Given the description of an element on the screen output the (x, y) to click on. 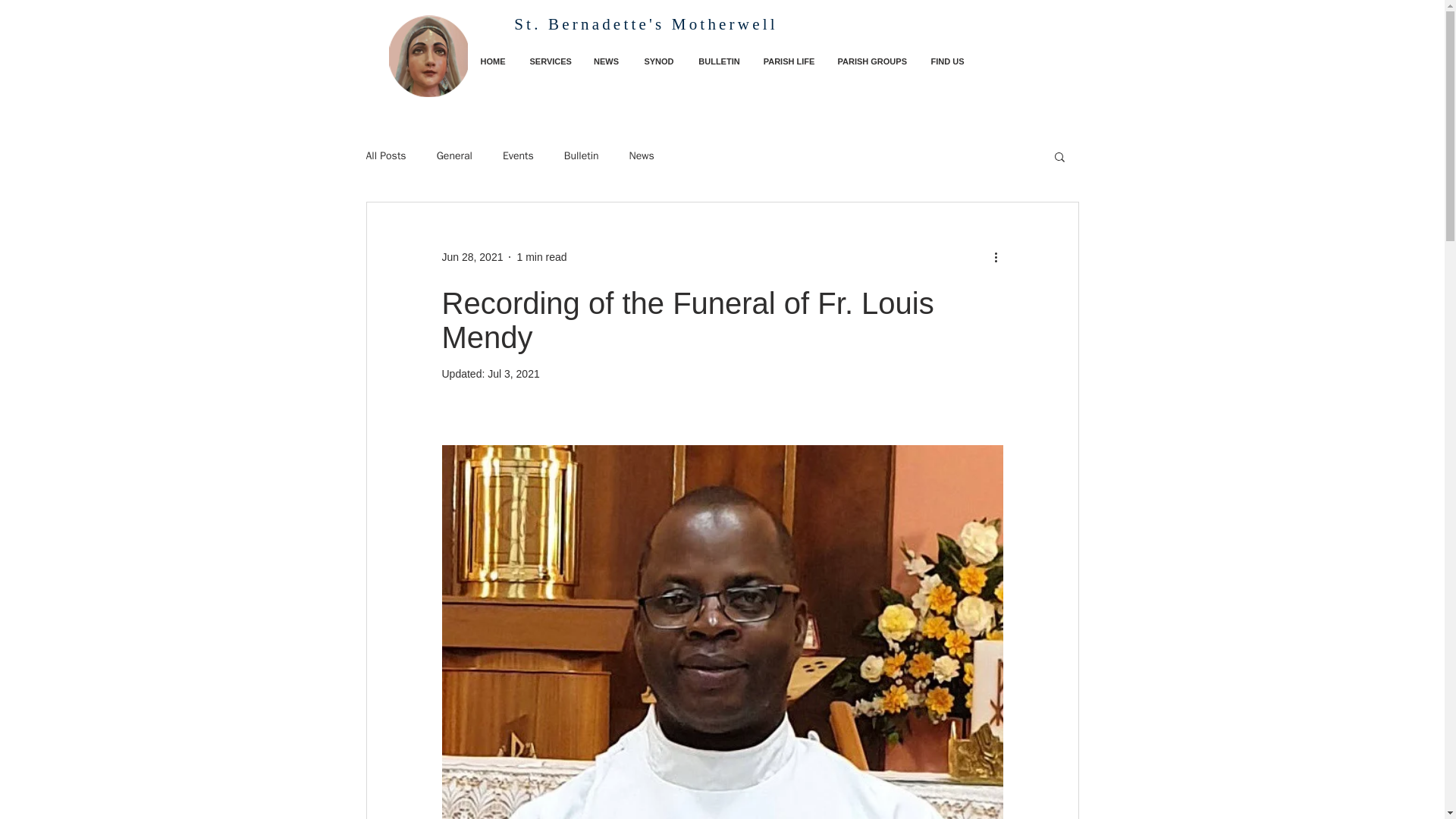
General (453, 155)
SERVICES (549, 61)
NEWS (605, 61)
HOME (492, 61)
Events (518, 155)
All Posts (385, 155)
Jun 28, 2021 (471, 256)
BULLETIN (719, 61)
News (640, 155)
Jul 3, 2021 (513, 373)
PARISH GROUPS (872, 61)
St. Bernadette's  (592, 24)
SYNOD (657, 61)
PARISH LIFE (789, 61)
1 min read (541, 256)
